Given the description of an element on the screen output the (x, y) to click on. 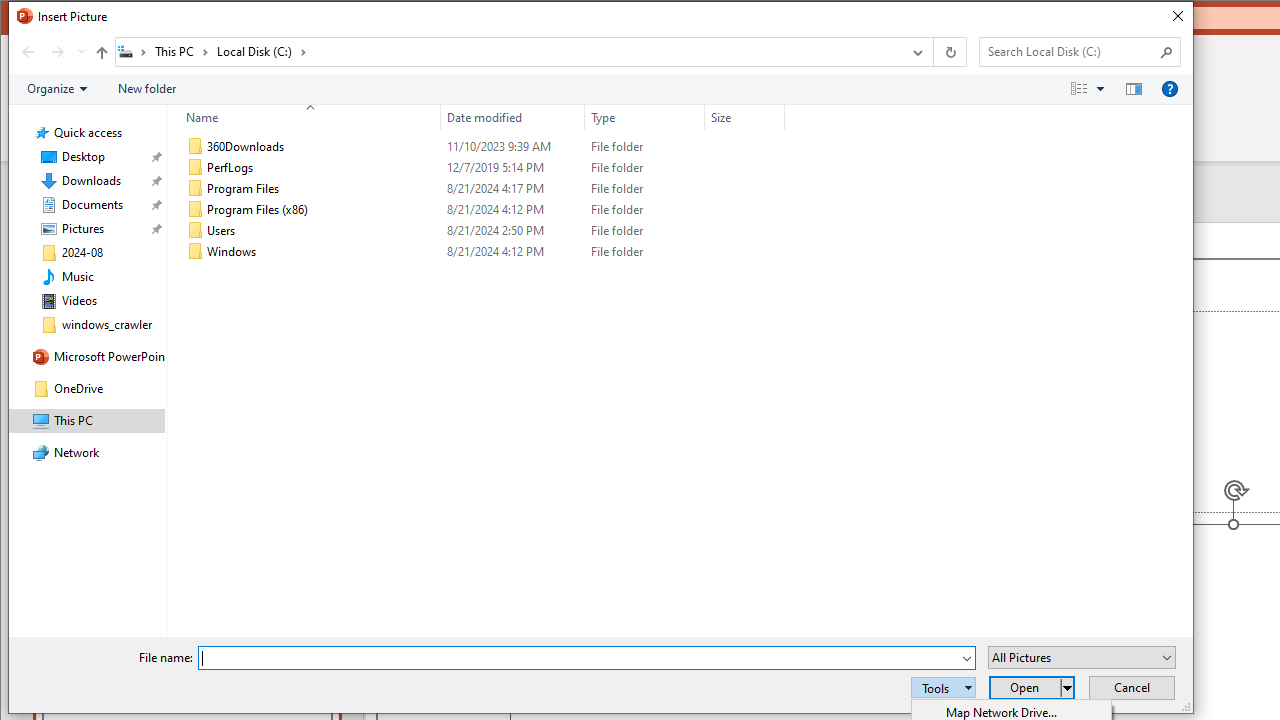
&Help (1169, 89)
New folder (146, 89)
Windows (481, 251)
Address band toolbar (932, 51)
File name: (579, 658)
Files of type: (1082, 656)
Users (481, 230)
Up band toolbar (101, 55)
Size (744, 251)
Search Box (1069, 51)
File name: (586, 657)
Program Files (x86) (481, 209)
Open (1032, 688)
Date modified (512, 251)
